Given the description of an element on the screen output the (x, y) to click on. 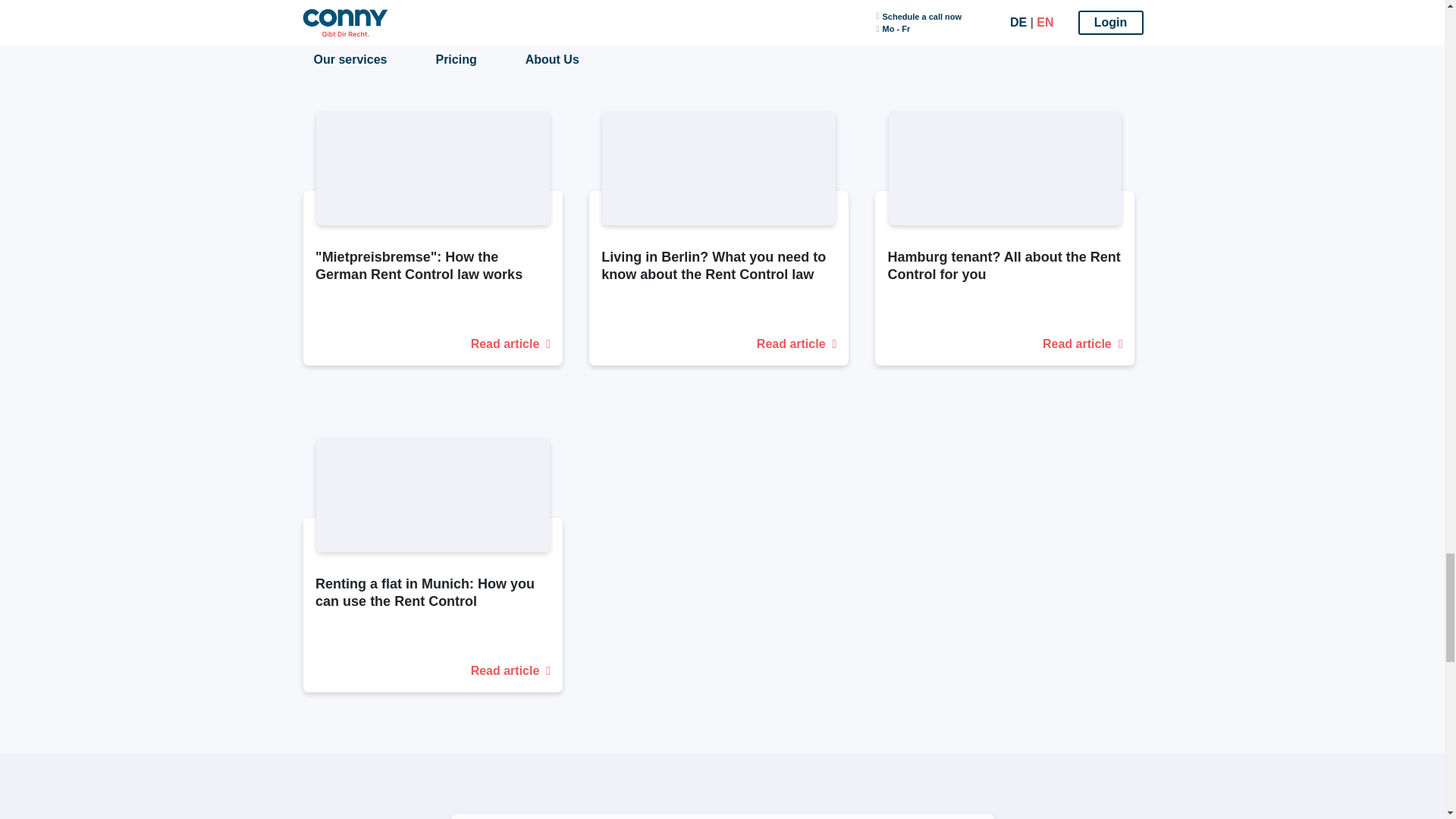
Read article   (718, 343)
Read article   (432, 343)
Read article   (432, 670)
Read article   (1004, 343)
